Given the description of an element on the screen output the (x, y) to click on. 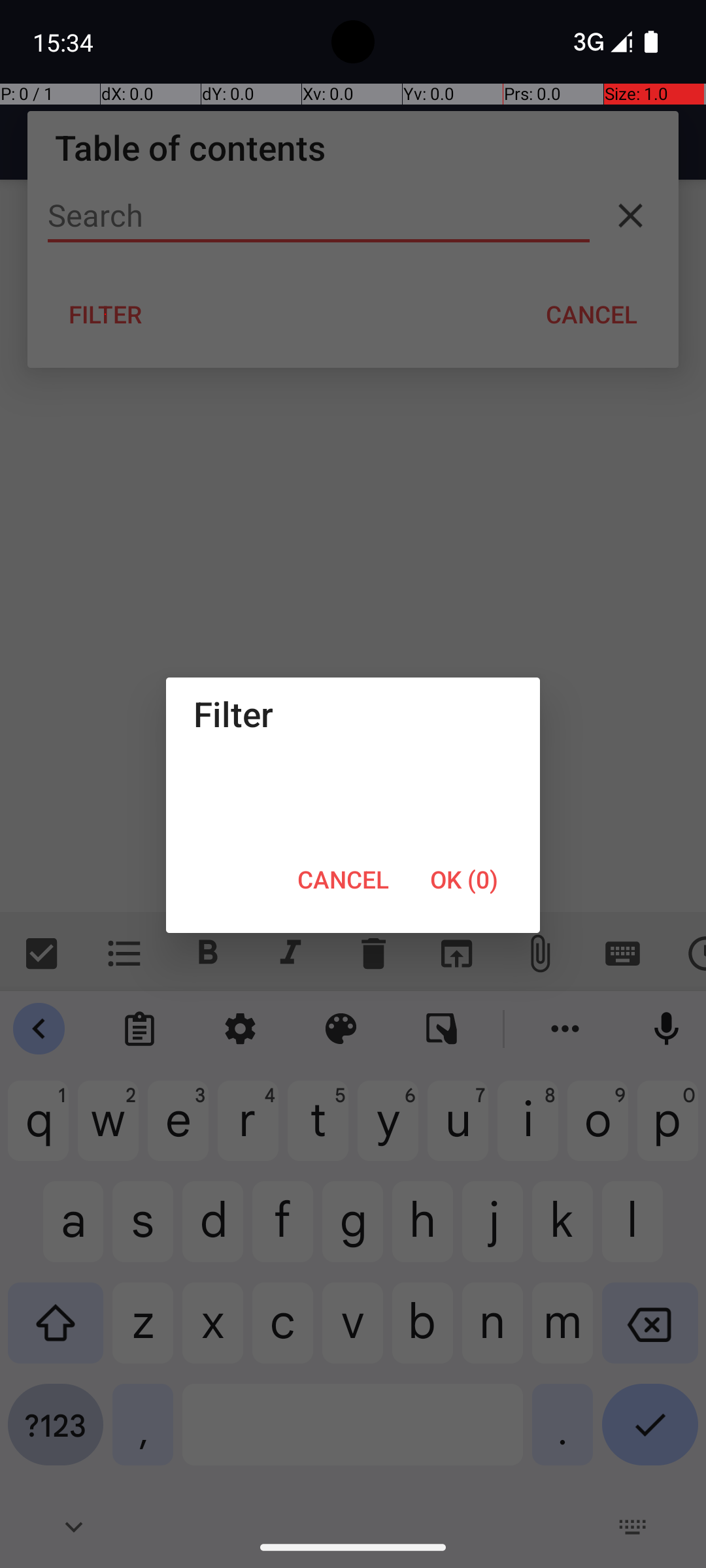
Filter Element type: android.widget.TextView (352, 713)
OK (0) Element type: android.widget.Button (464, 879)
